Given the description of an element on the screen output the (x, y) to click on. 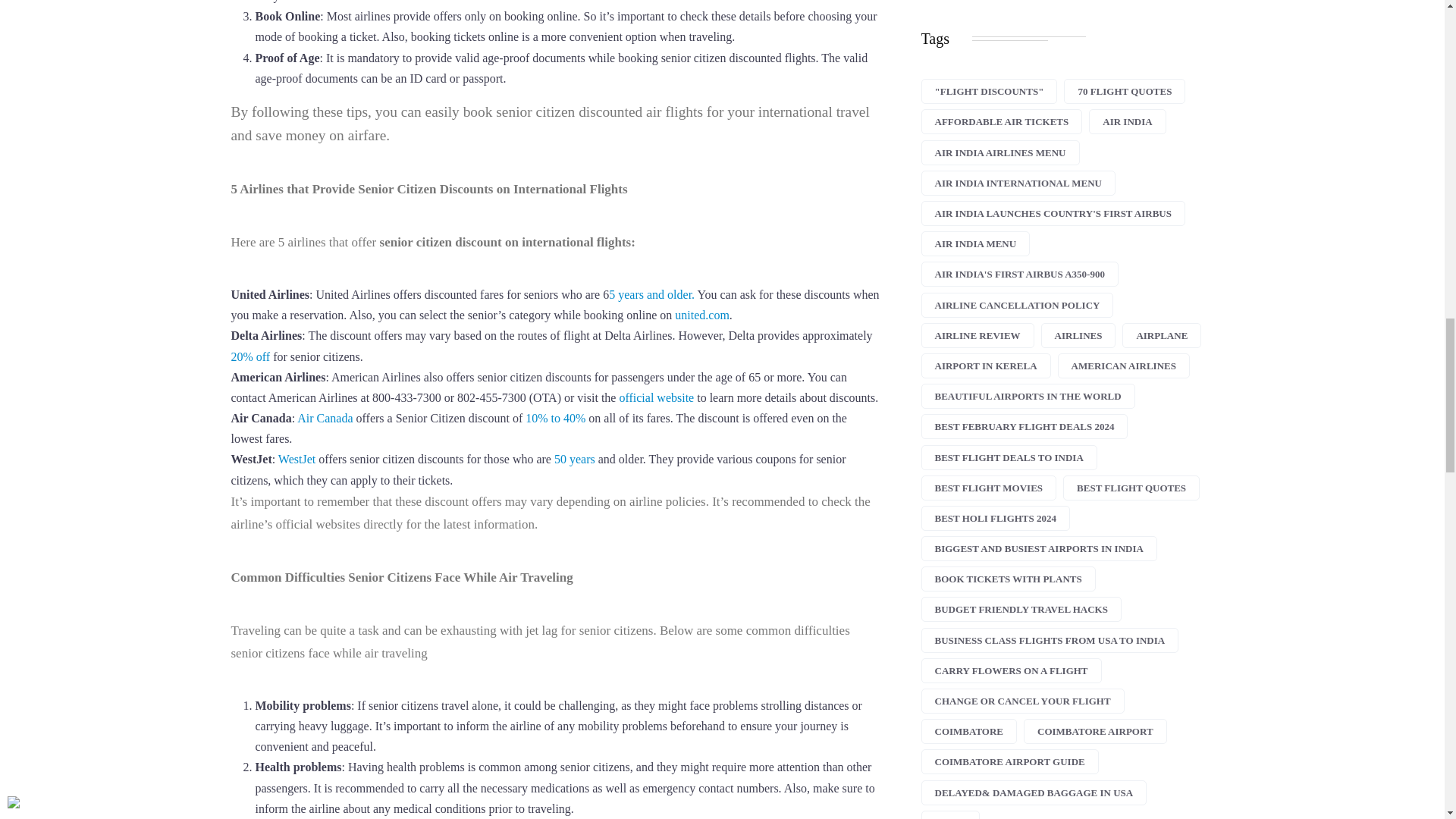
Air India airlines menu (999, 152)
American Airlines (1123, 365)
beautiful airports in the world (1027, 396)
Airport in Kerela (984, 365)
"flight discounts" (988, 91)
Airline Cancellation Policy (1016, 304)
Air Canada (324, 418)
Air India (1127, 121)
Air India Menu (974, 243)
united.com (702, 314)
airline review (976, 335)
70 flight quotes (1124, 91)
Air India International menu (1017, 182)
airlines (1078, 335)
Affordable Air Tickets (1000, 121)
